Given the description of an element on the screen output the (x, y) to click on. 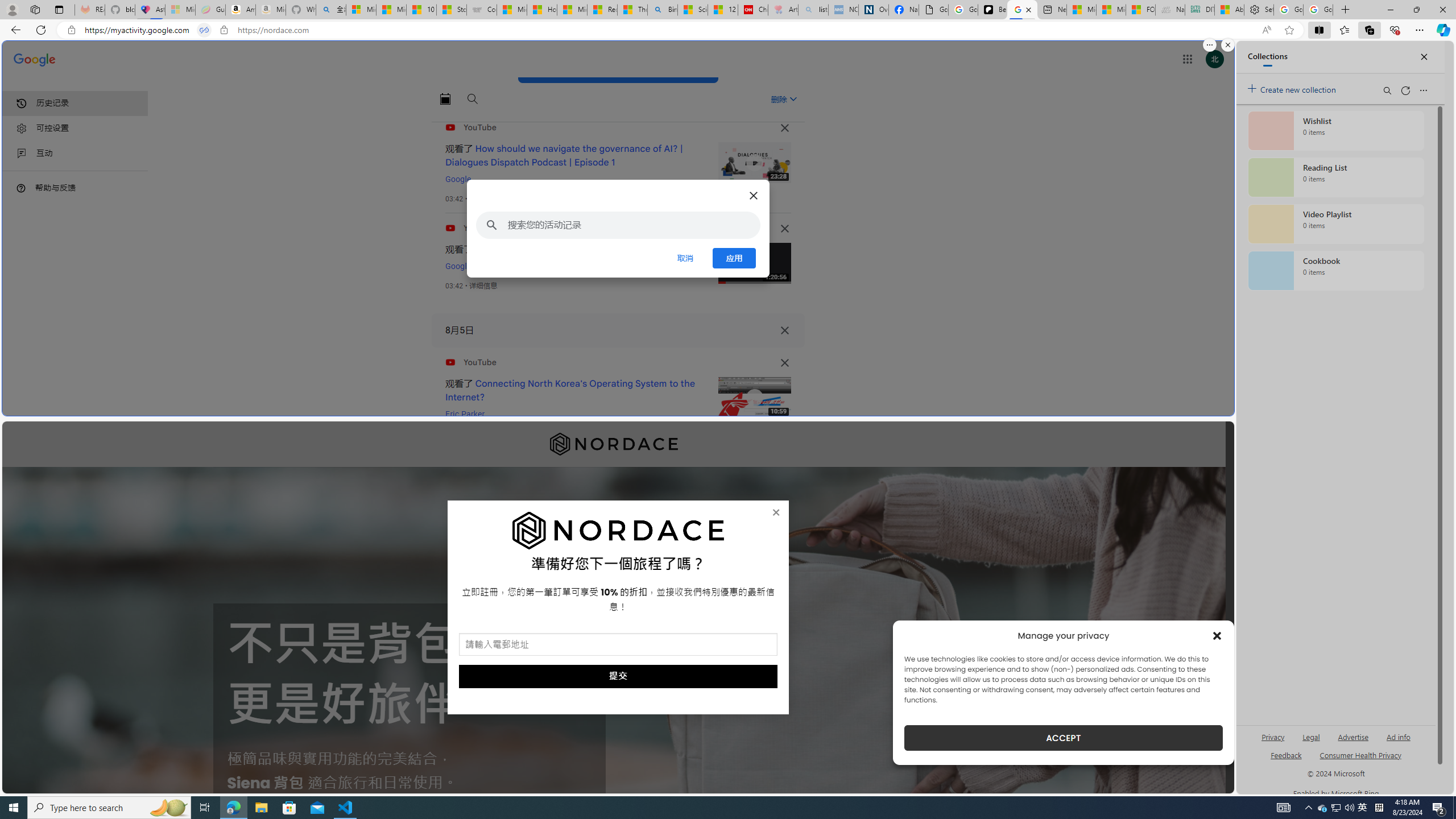
Class: DI7Mnf NMm5M (784, 330)
More options. (1209, 45)
Tabs in split screen (203, 29)
Class: IVR0f NMm5M (754, 397)
